Given the description of an element on the screen output the (x, y) to click on. 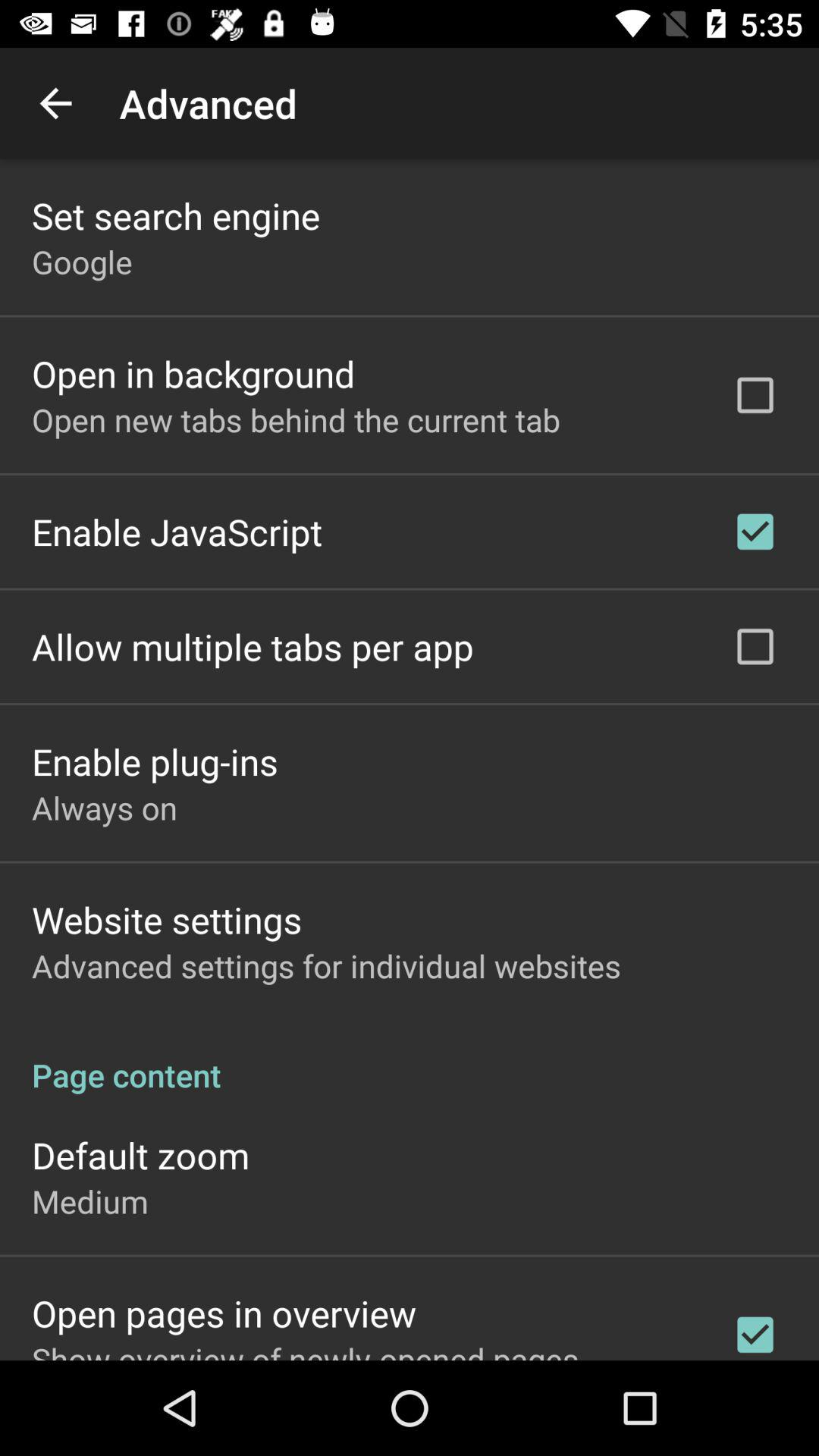
swipe to medium icon (89, 1200)
